Given the description of an element on the screen output the (x, y) to click on. 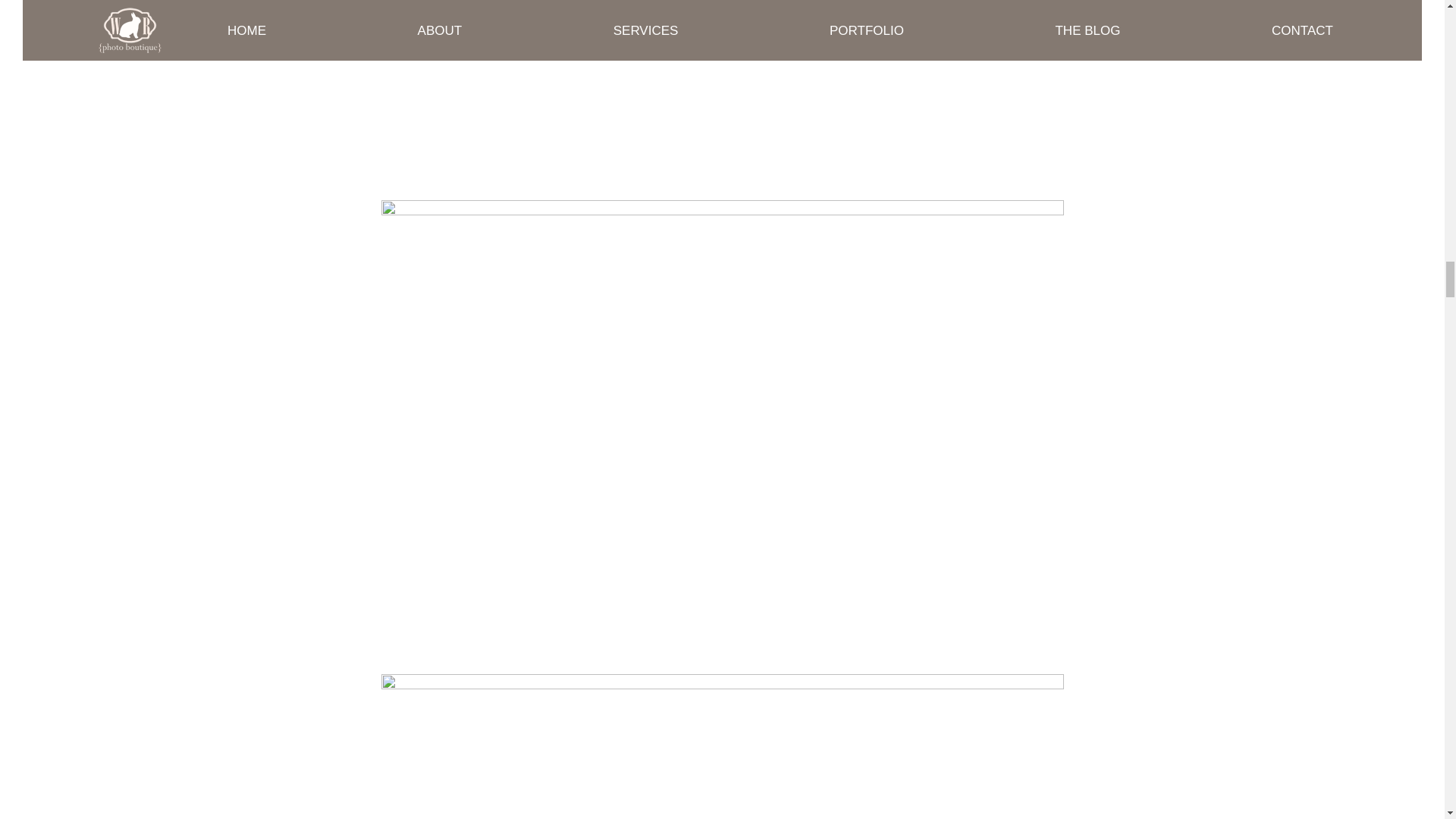
Nightmare Before Christmas Wedding (721, 90)
Nightmare Before Christmas Wedding (721, 746)
